Given the description of an element on the screen output the (x, y) to click on. 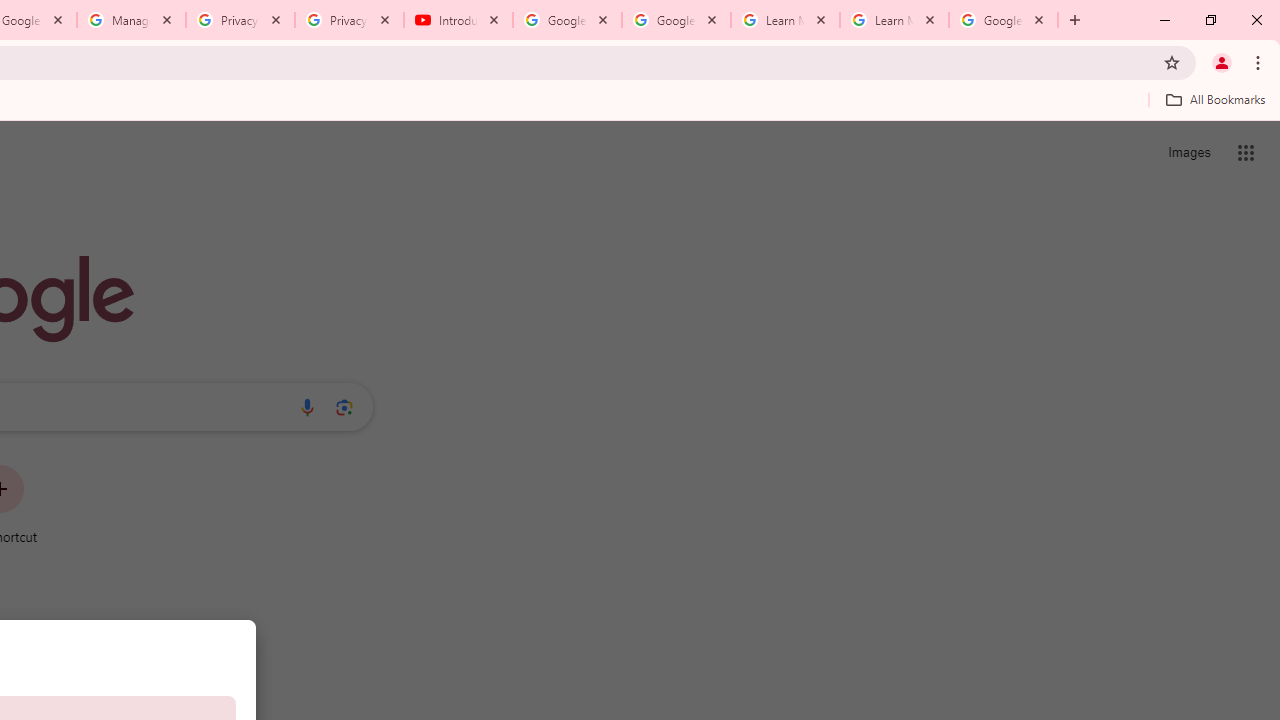
Google Account Help (567, 20)
